Given the description of an element on the screen output the (x, y) to click on. 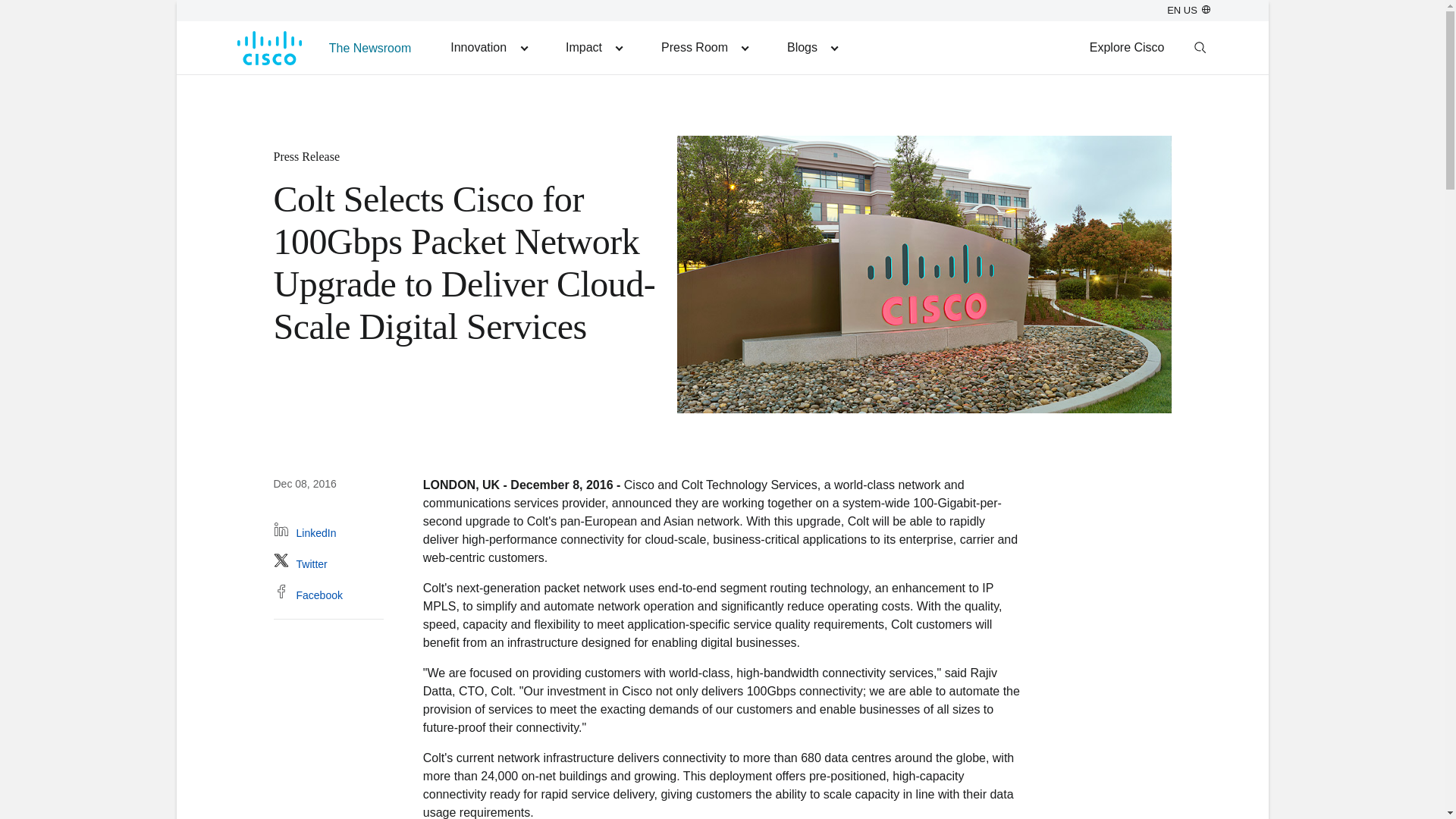
Press Room (704, 47)
Blogs (811, 47)
Innovation (488, 47)
Innovation (488, 47)
Explore Cisco (1126, 47)
Impact (593, 47)
Media Center (704, 47)
The Newsroom (370, 47)
EN US (1188, 10)
Impact (593, 47)
